Given the description of an element on the screen output the (x, y) to click on. 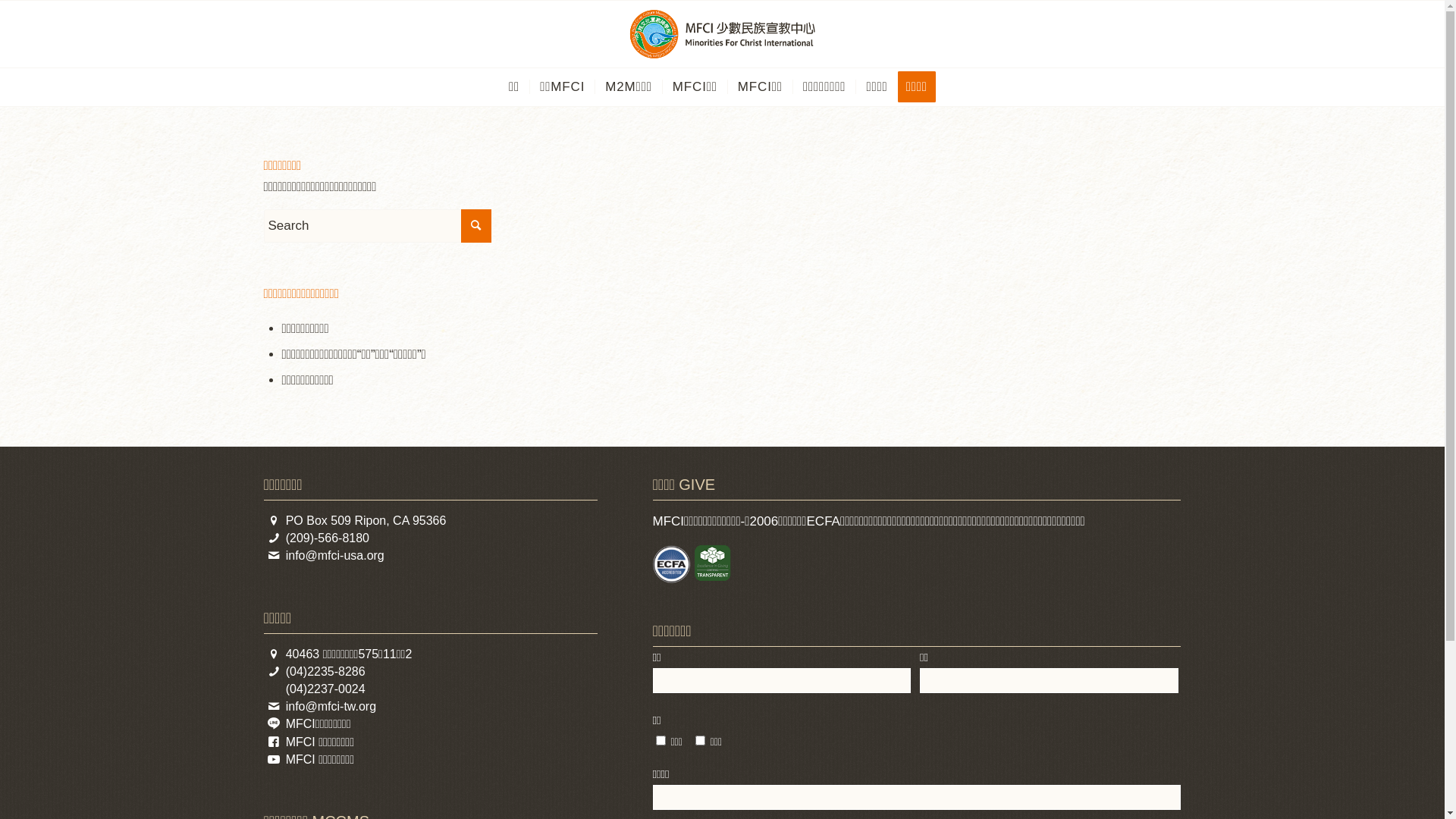
info@mfci-tw.org Element type: text (330, 705)
info@mfci-usa.org Element type: text (334, 555)
(04)2237-0024 Element type: text (325, 688)
(04)2235-8286 Element type: text (325, 671)
(209)-566-8180 Element type: text (327, 537)
